Given the description of an element on the screen output the (x, y) to click on. 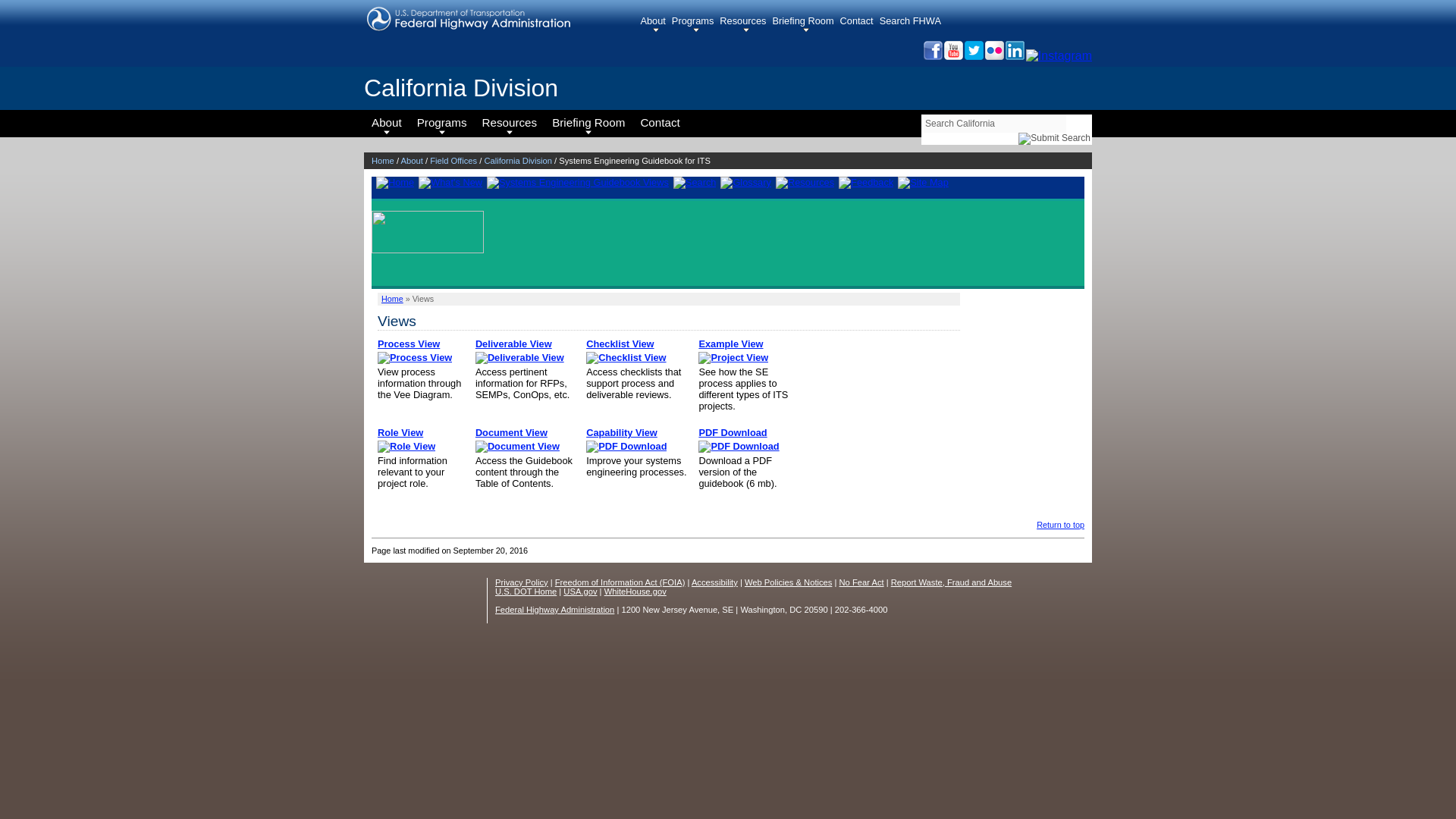
Resources (745, 23)
Follow Us on Twitter (973, 55)
About (655, 23)
Search California (993, 123)
Watch Us on YouTube (952, 55)
Like Us on Facebook (931, 55)
Search California (993, 123)
Briefing Room (805, 23)
Programs (695, 23)
Search (1054, 138)
